Given the description of an element on the screen output the (x, y) to click on. 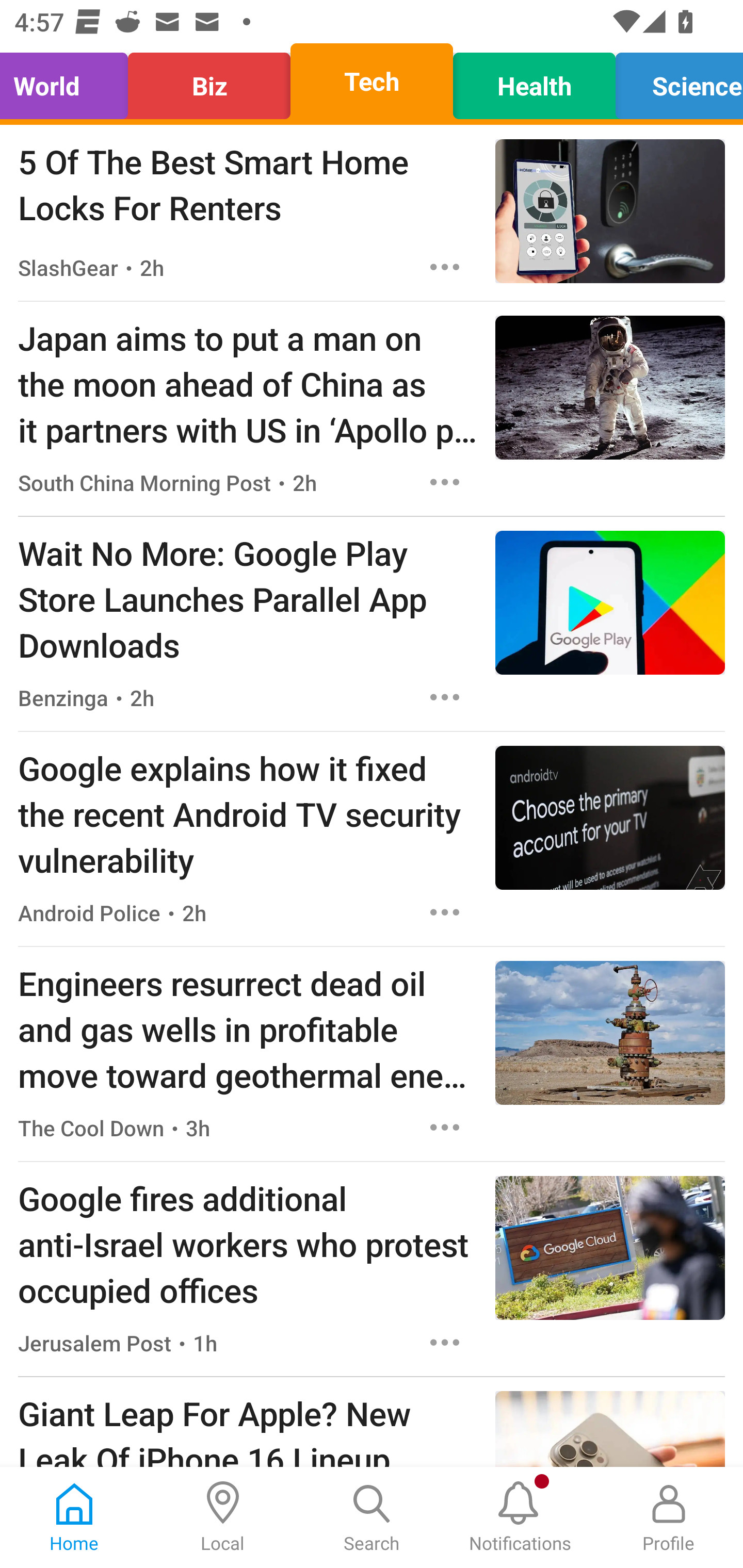
World (69, 81)
Biz (209, 81)
Tech (371, 81)
Health (534, 81)
Science (673, 81)
Options (444, 267)
Options (444, 481)
Options (444, 697)
Options (444, 912)
Options (444, 1127)
Options (444, 1342)
Local (222, 1517)
Search (371, 1517)
Notifications, New notification Notifications (519, 1517)
Profile (668, 1517)
